Given the description of an element on the screen output the (x, y) to click on. 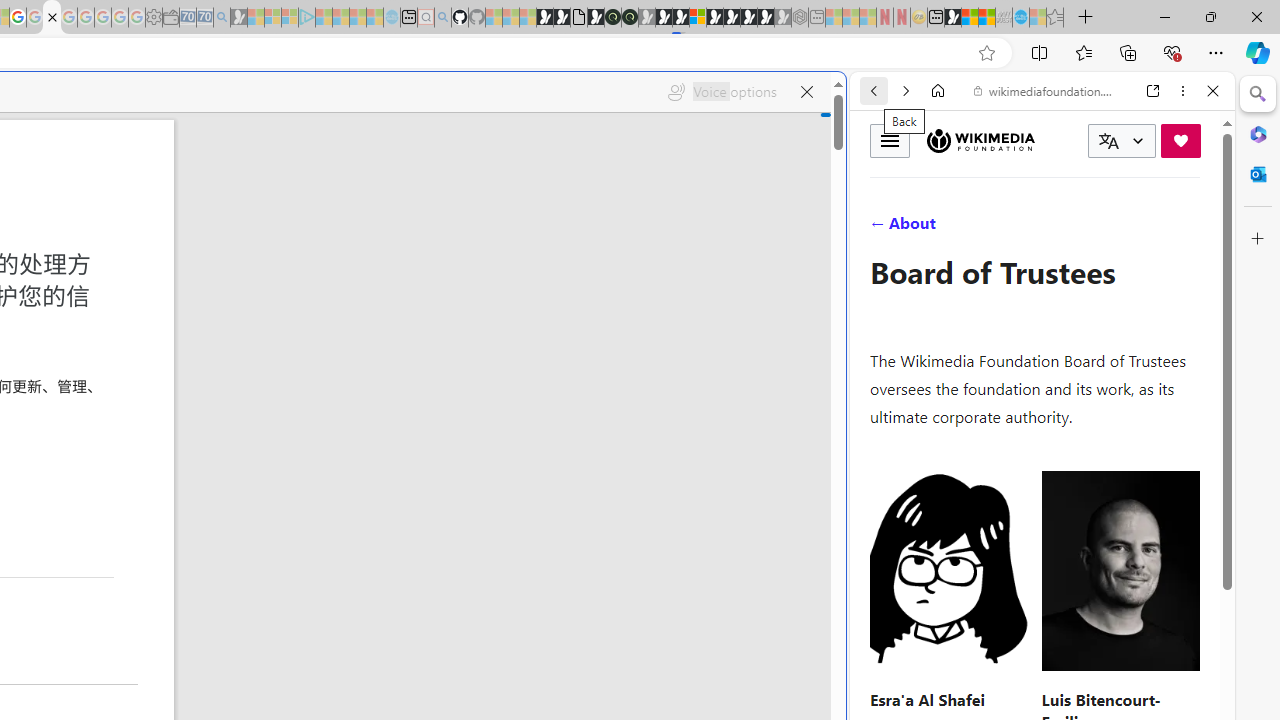
Wikimedia Foundation (980, 140)
Esra'a Al Shafei (927, 698)
Wiktionary (1034, 669)
Close read aloud (805, 92)
